Given the description of an element on the screen output the (x, y) to click on. 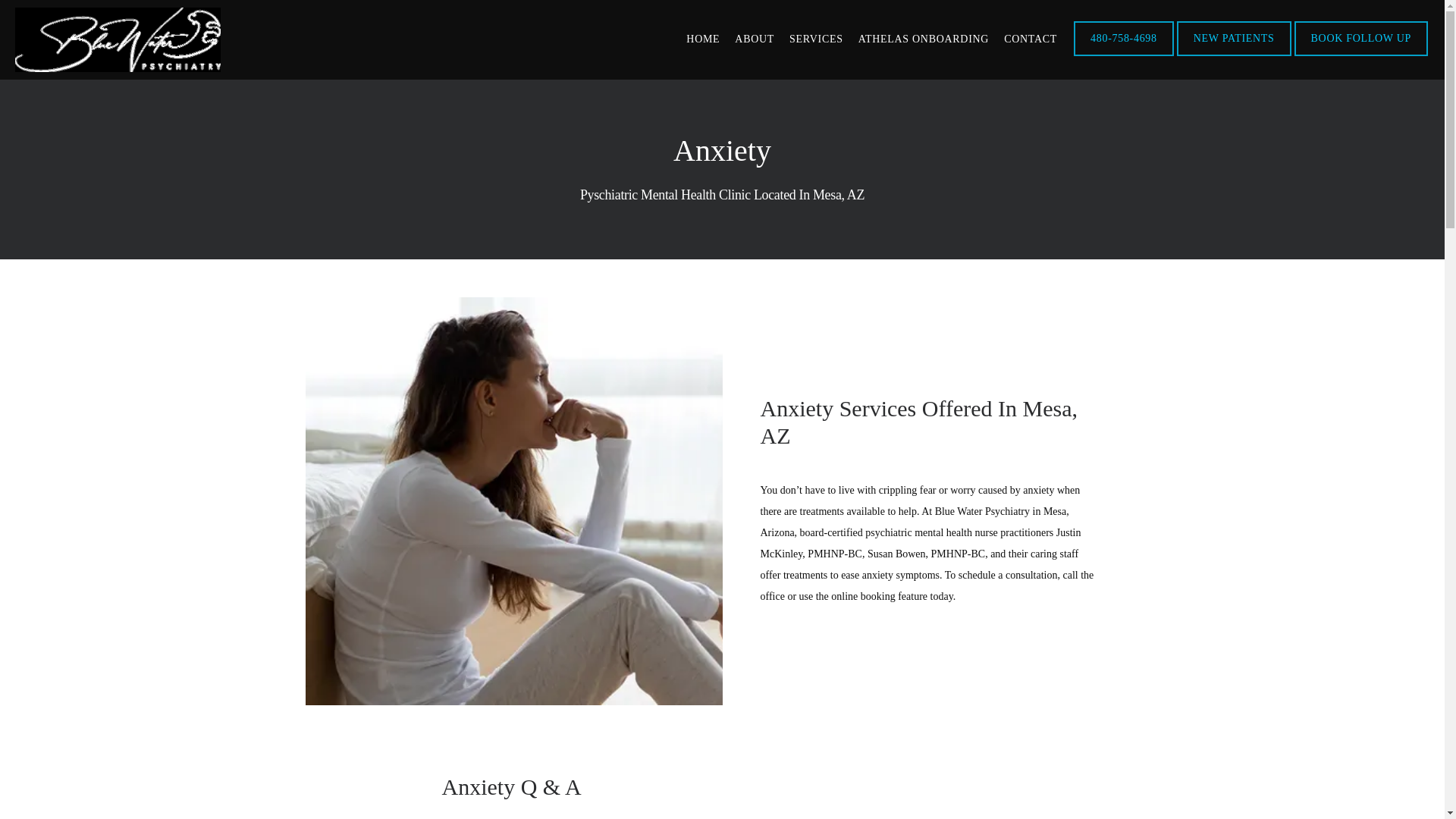
NEW PATIENTS (1233, 54)
ABOUT (754, 39)
HOME (702, 39)
ATHELAS ONBOARDING (923, 39)
CONTACT (1030, 39)
BOOK FOLLOW UP (1360, 54)
SERVICES (816, 39)
480-758-4698 (1122, 54)
